Given the description of an element on the screen output the (x, y) to click on. 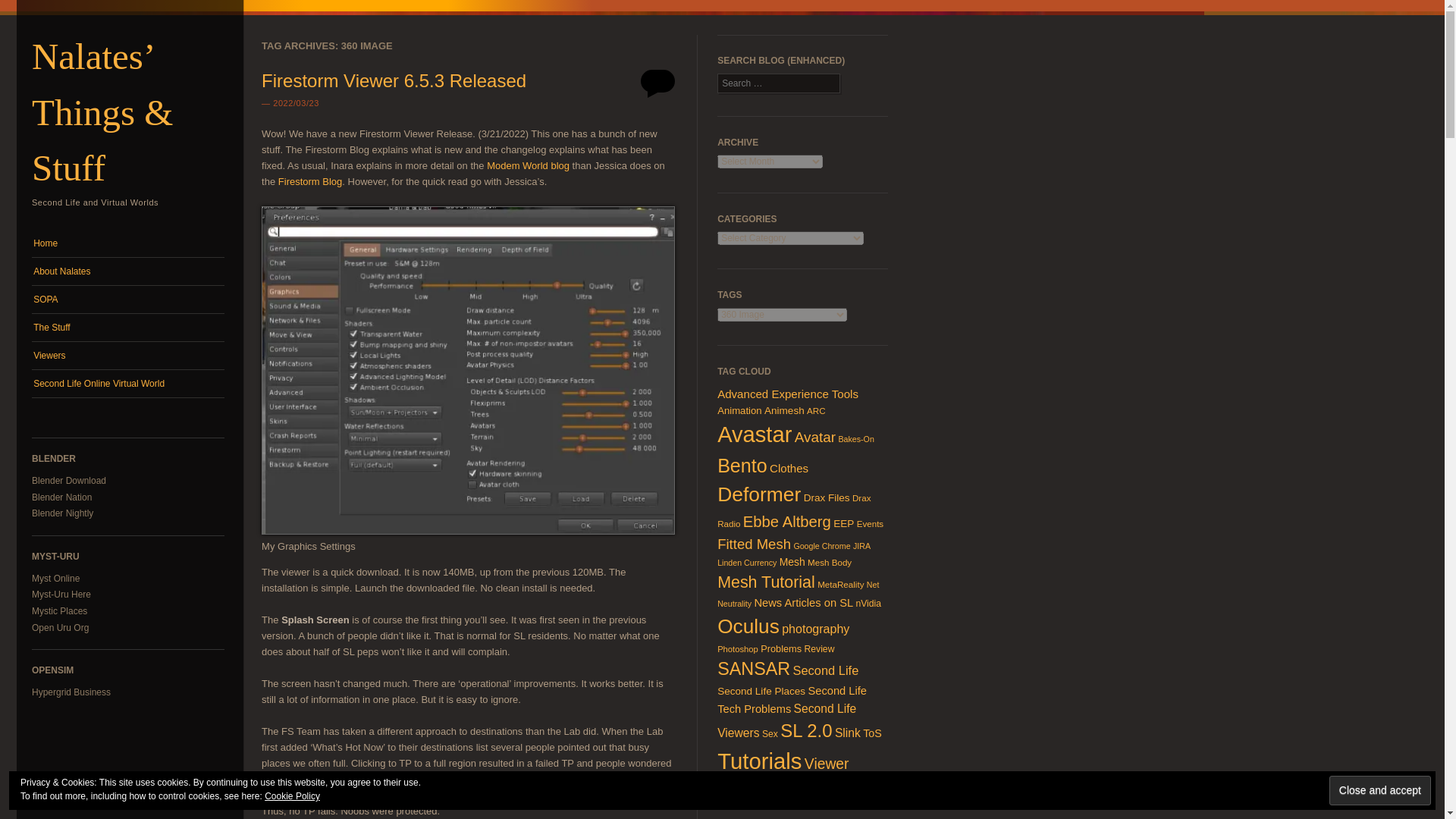
Skip to content (61, 236)
Blender Download (69, 480)
Open Sim news (71, 692)
Myst-Uru Here (61, 593)
Viewers (128, 355)
Close and accept (1380, 790)
The Stuff (128, 327)
Second Life Online Virtual World (128, 383)
My Myst Articles (61, 593)
Open Source Myst Online (60, 627)
Download the latest Blender version. (69, 480)
Skip to content (61, 236)
SOPA (128, 298)
Blender News (61, 497)
Images from RL of Myst Uru like place (59, 611)
